Given the description of an element on the screen output the (x, y) to click on. 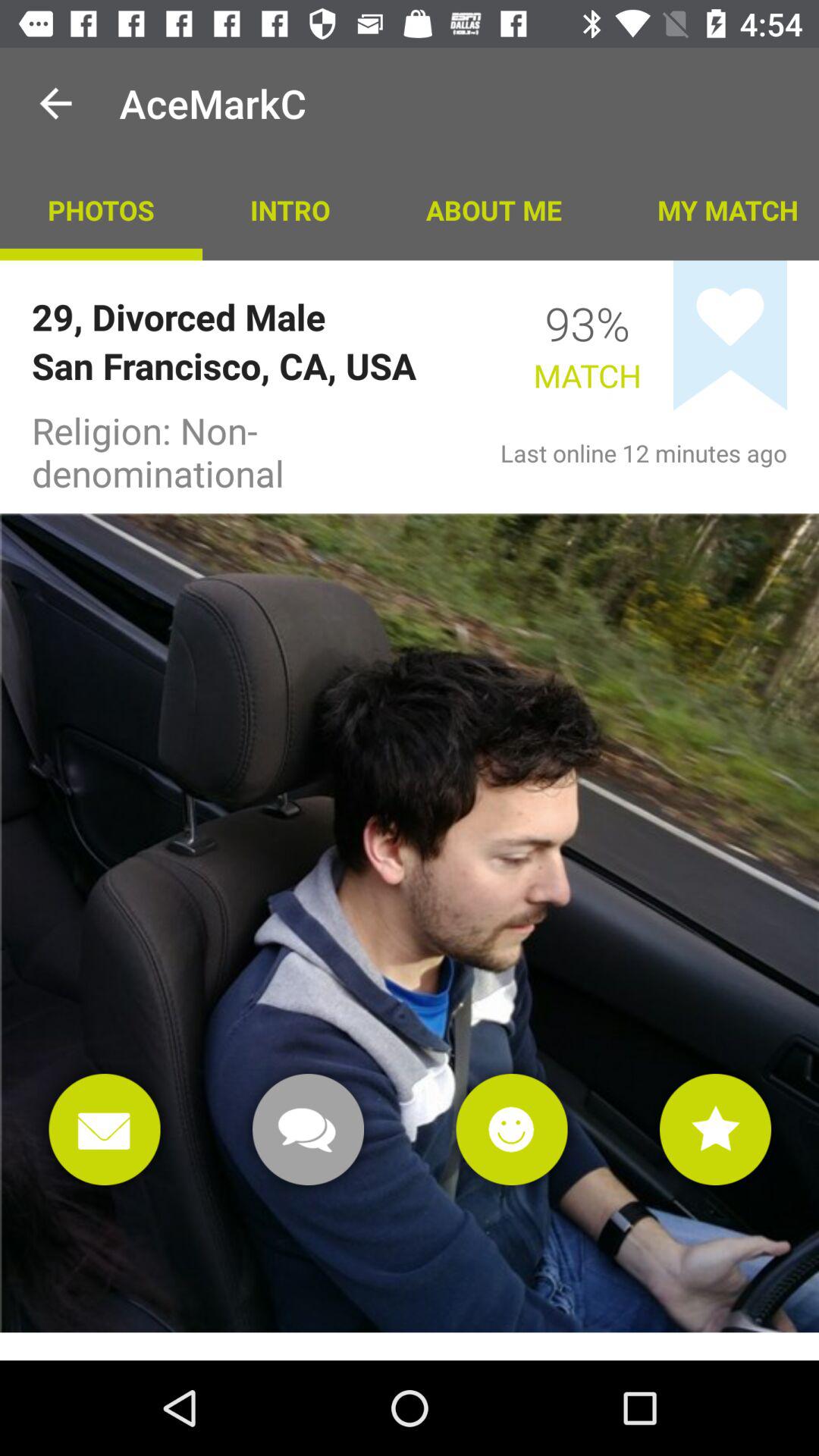
click app below my match (730, 335)
